Given the description of an element on the screen output the (x, y) to click on. 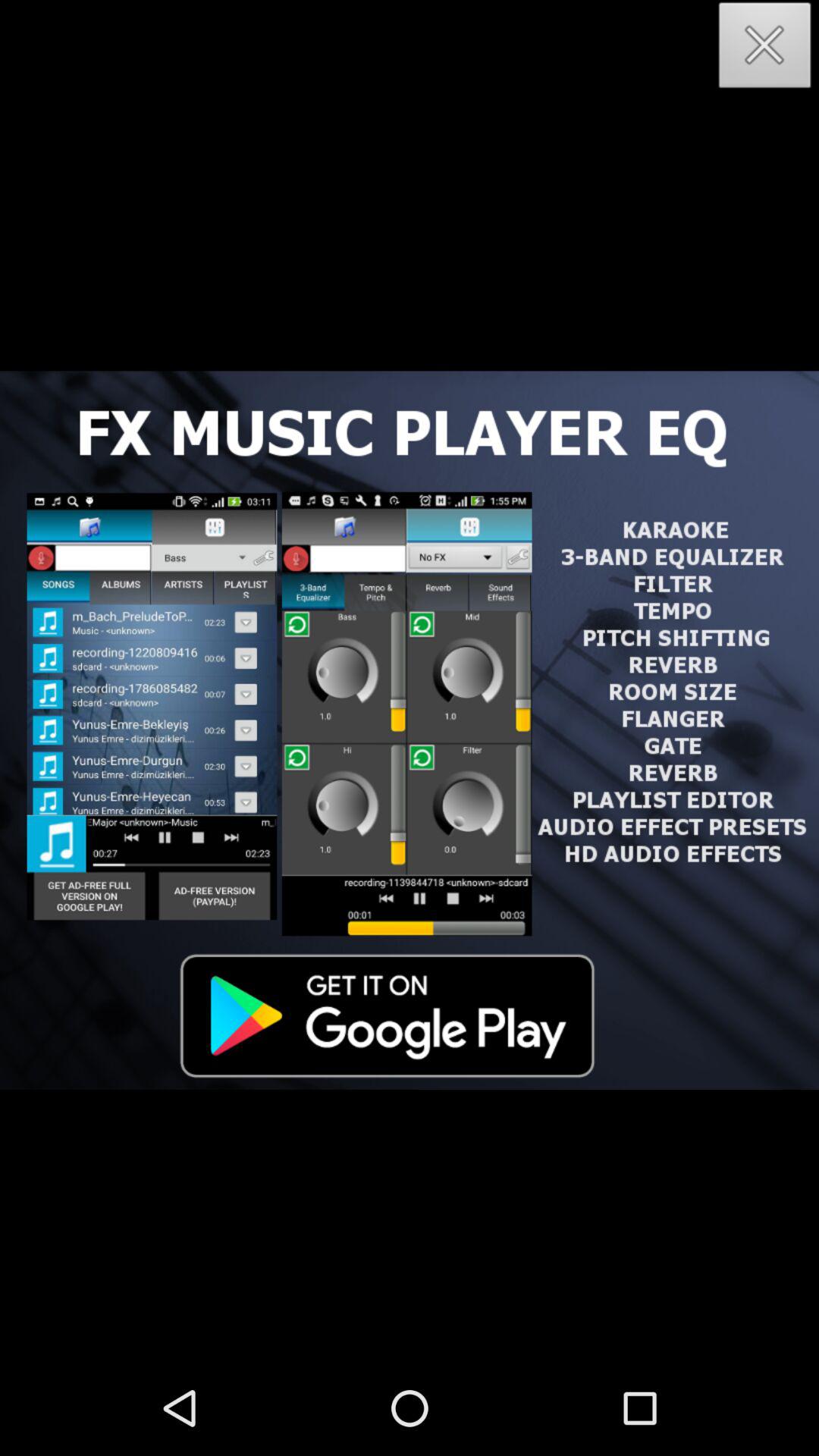
exit out (765, 49)
